Given the description of an element on the screen output the (x, y) to click on. 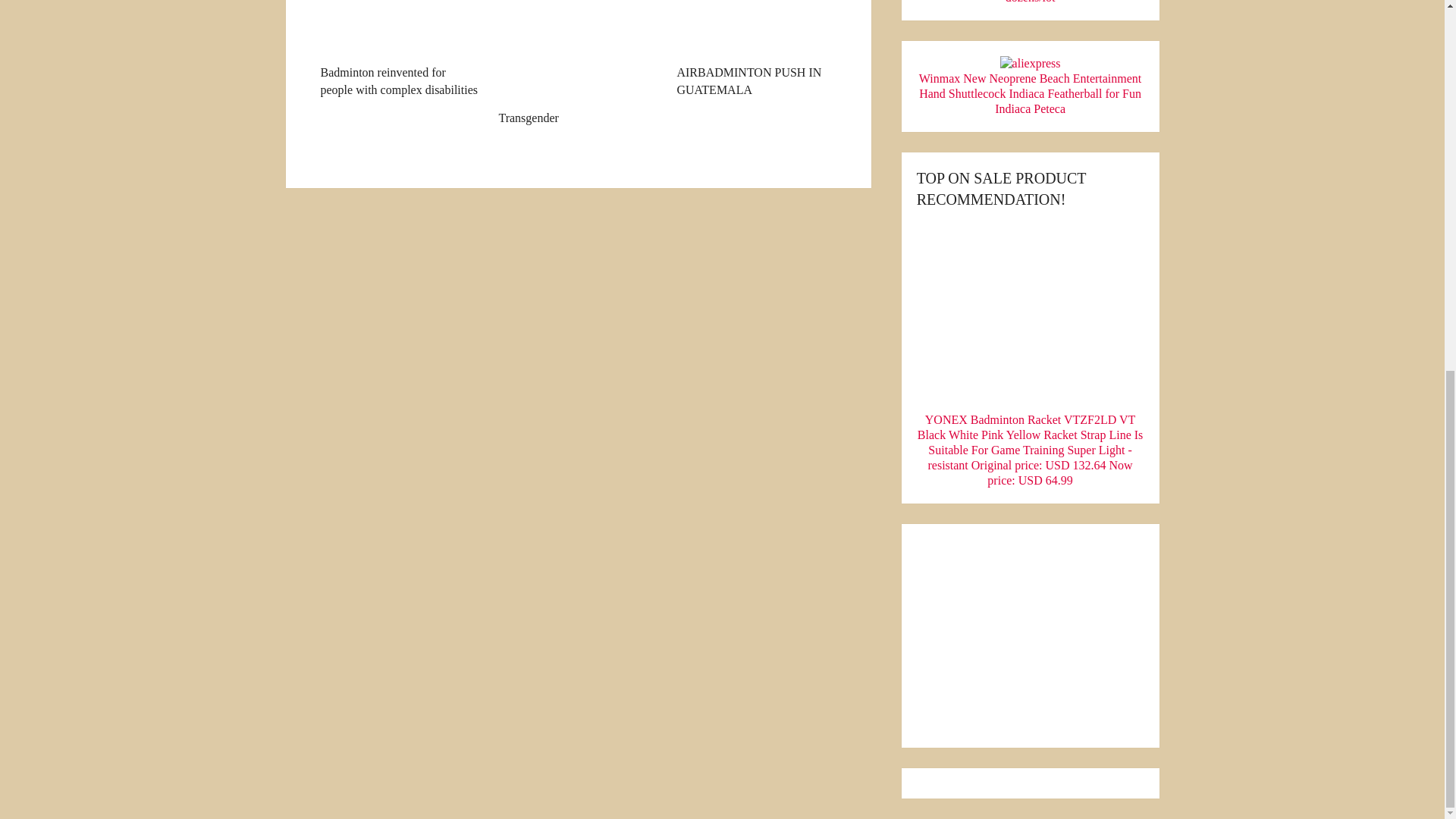
Badminton reinvented for people with complex disabilities (399, 49)
AIRBADMINTON PUSH IN GUATEMALA (756, 49)
AIRBADMINTON PUSH IN GUATEMALA (756, 49)
Transgender (577, 63)
Transgender (577, 63)
Badminton reinvented for people with complex disabilities (399, 49)
AIRBADMINTON PUSH IN GUATEMALA (756, 28)
Badminton reinvented for people with complex disabilities (399, 28)
